Given the description of an element on the screen output the (x, y) to click on. 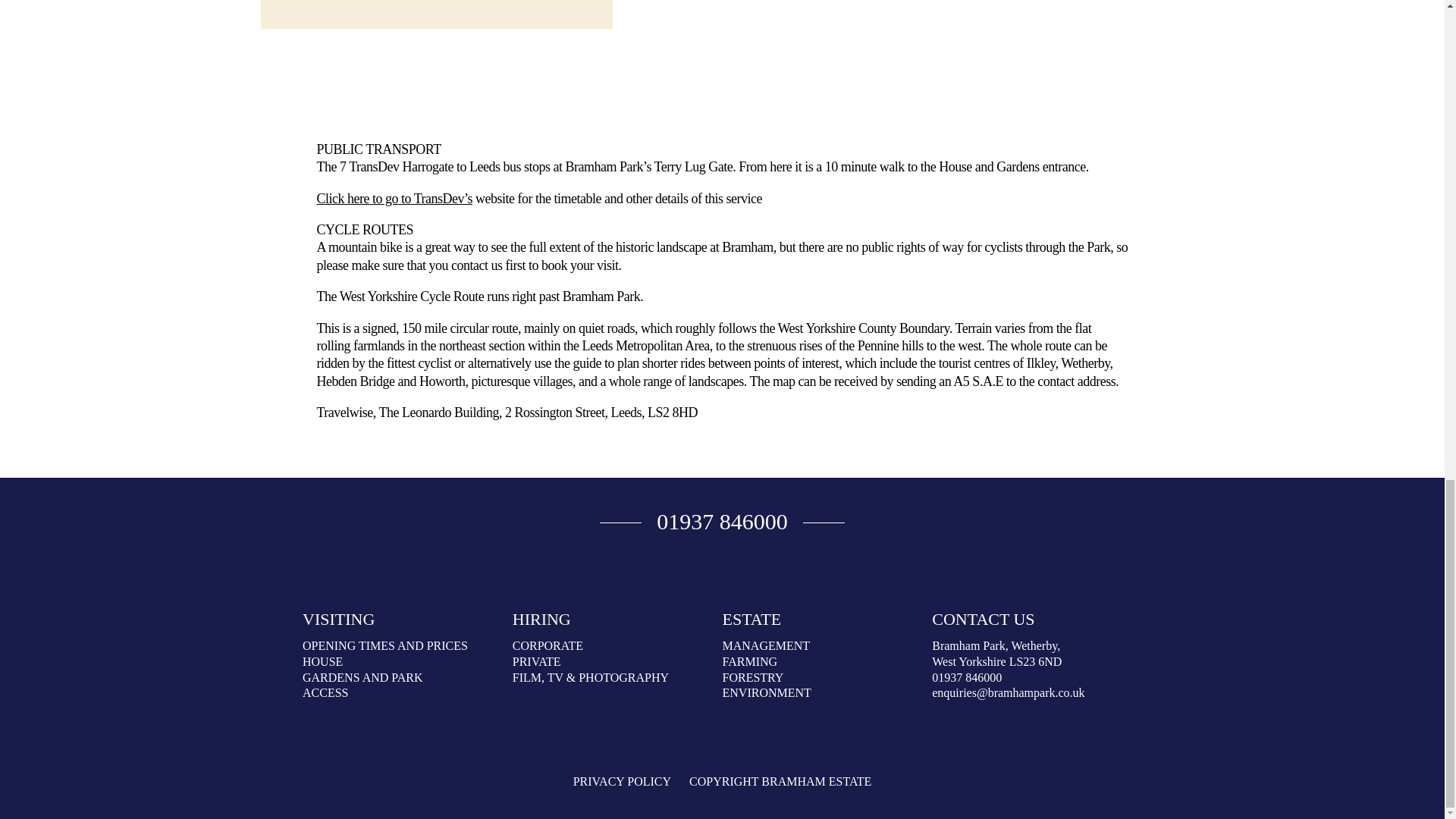
CORPORATE (547, 645)
PRIVATE (536, 661)
HOUSE (322, 661)
MANAGEMENT (765, 645)
FARMING (749, 661)
ENVIRONMENT (766, 692)
PRIVACY POLICY (622, 780)
FORESTRY (752, 676)
01937 846000 (966, 676)
GARDENS AND PARK (362, 676)
